Given the description of an element on the screen output the (x, y) to click on. 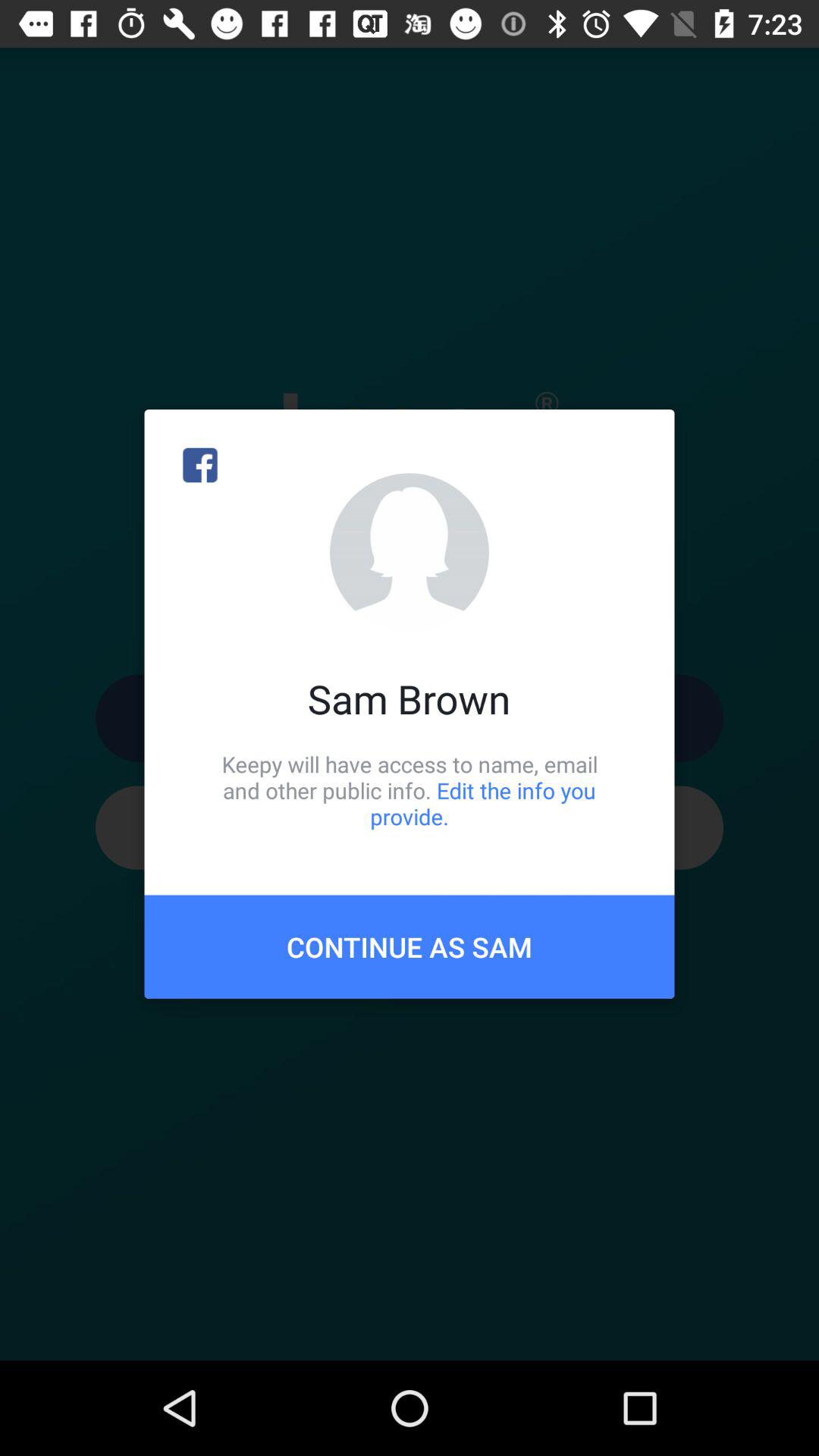
choose item below the sam brown icon (409, 790)
